Given the description of an element on the screen output the (x, y) to click on. 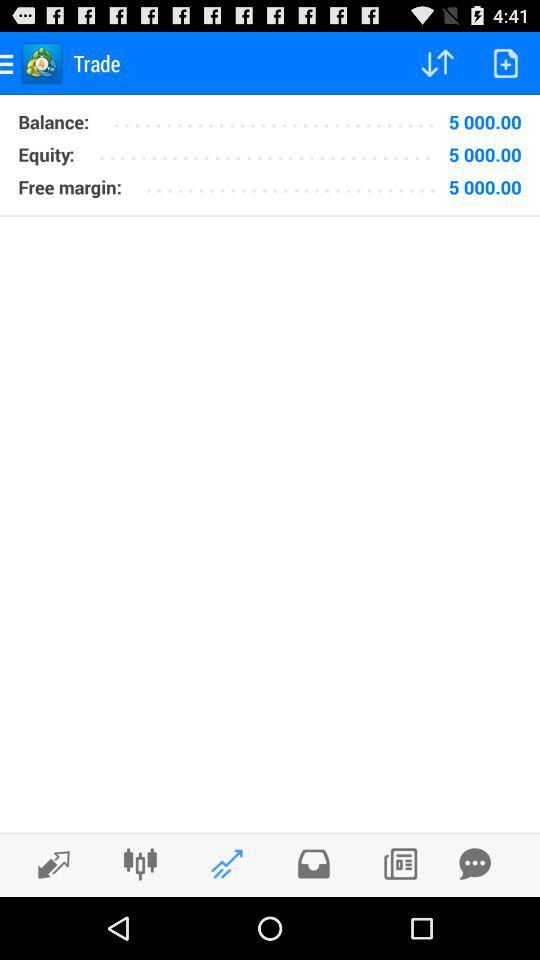
chat (475, 864)
